Given the description of an element on the screen output the (x, y) to click on. 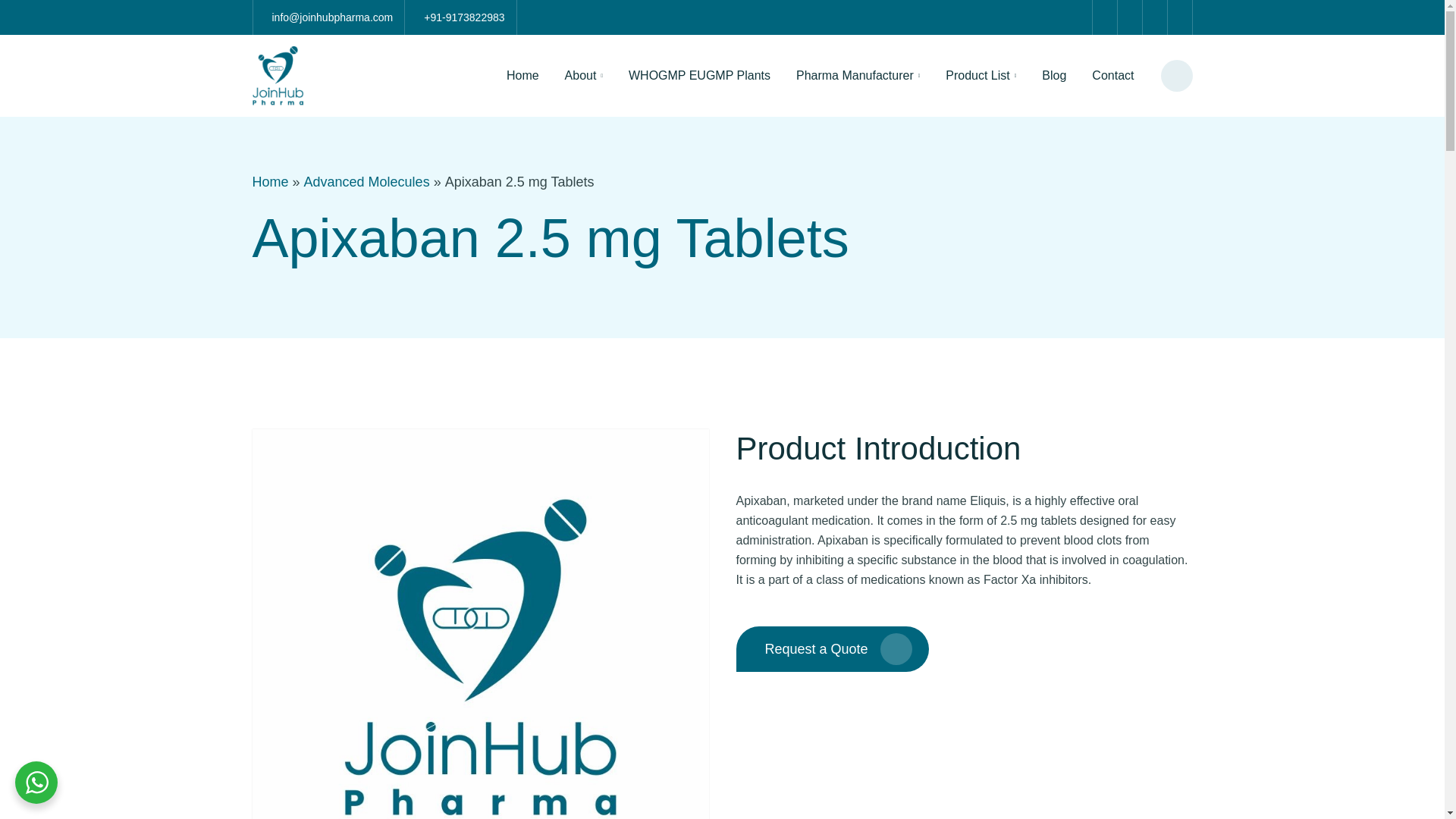
Pharma Manufacturer (857, 75)
Contact (1112, 75)
Home (269, 181)
Product List (981, 75)
Pharma Manufacturer (857, 75)
About Us (583, 75)
Home (522, 75)
WHOGMP EUGMP Plants (699, 75)
Blog (1054, 75)
About (583, 75)
Home (522, 75)
Advanced Molecules (366, 181)
WHOGMP EUGMP Plants (699, 75)
Request a Quote (831, 648)
